Given the description of an element on the screen output the (x, y) to click on. 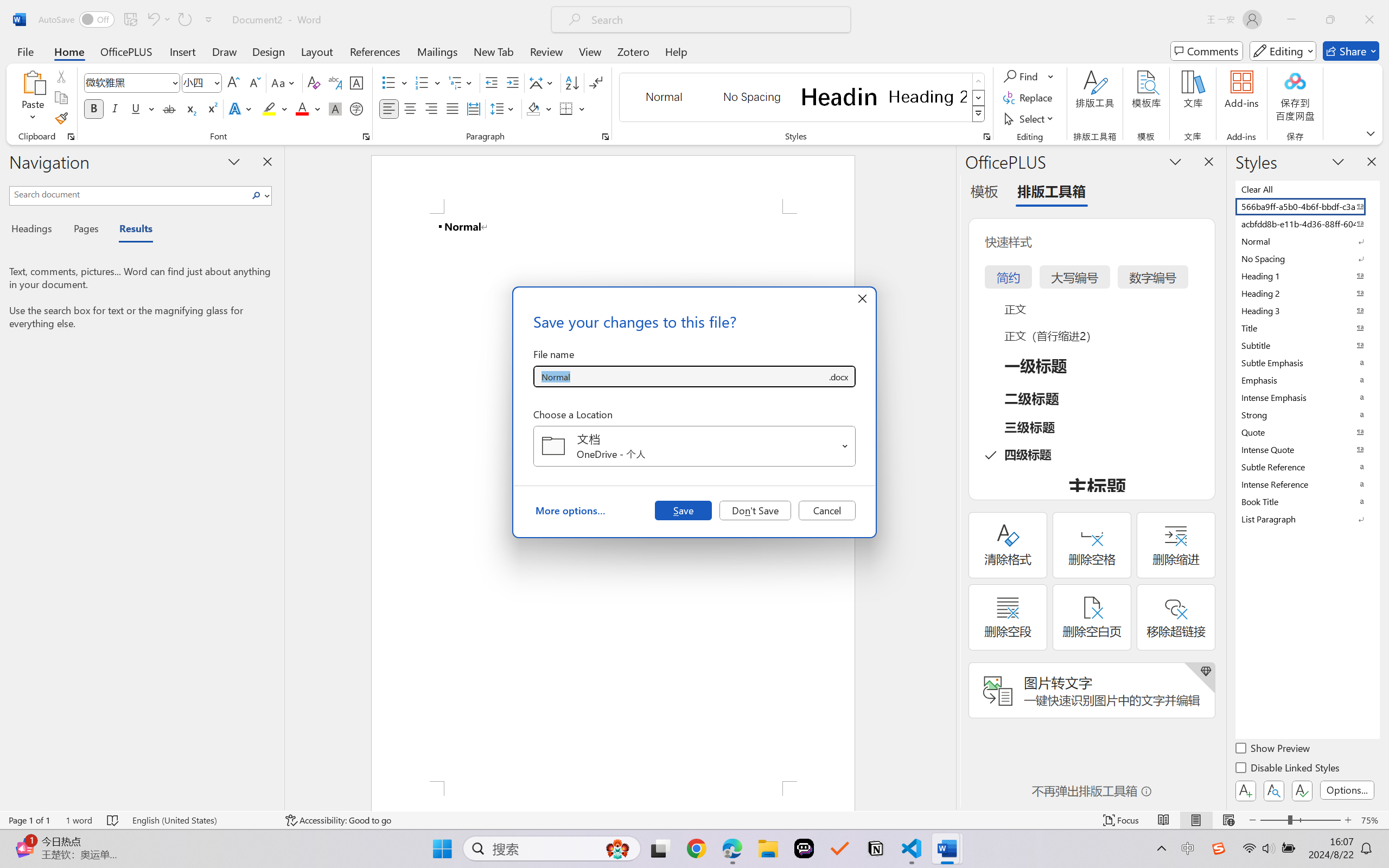
File name (680, 376)
Subtle Reference (1306, 466)
Justify (452, 108)
Minimize (1291, 19)
Text Effects and Typography (241, 108)
References (375, 51)
Spelling and Grammar Check No Errors (113, 819)
Intense Emphasis (1306, 397)
Paste (33, 81)
Align Right (431, 108)
Web Layout (1228, 819)
Superscript (210, 108)
Bold (94, 108)
Row Down (978, 97)
